Given the description of an element on the screen output the (x, y) to click on. 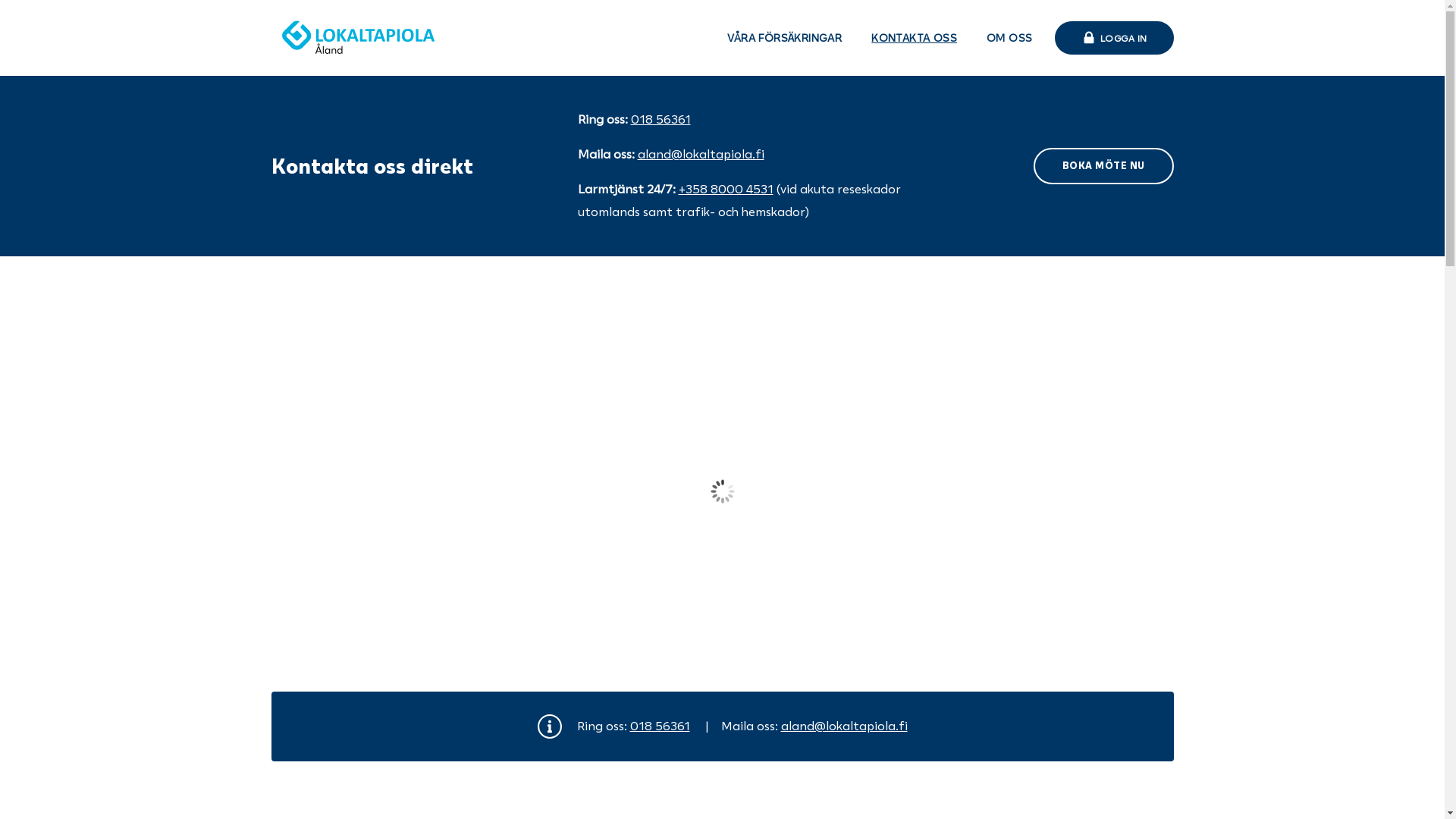
KONTAKTA OSS Element type: text (913, 37)
aland@lokaltapiola.fi Element type: text (844, 725)
018 56361 Element type: text (660, 118)
+358 8000 4531 Element type: text (724, 188)
LOGGA IN Element type: text (1113, 37)
aland@lokaltapiola.fi Element type: text (700, 153)
OM OSS Element type: text (1009, 37)
018 56361 Element type: text (659, 725)
